Given the description of an element on the screen output the (x, y) to click on. 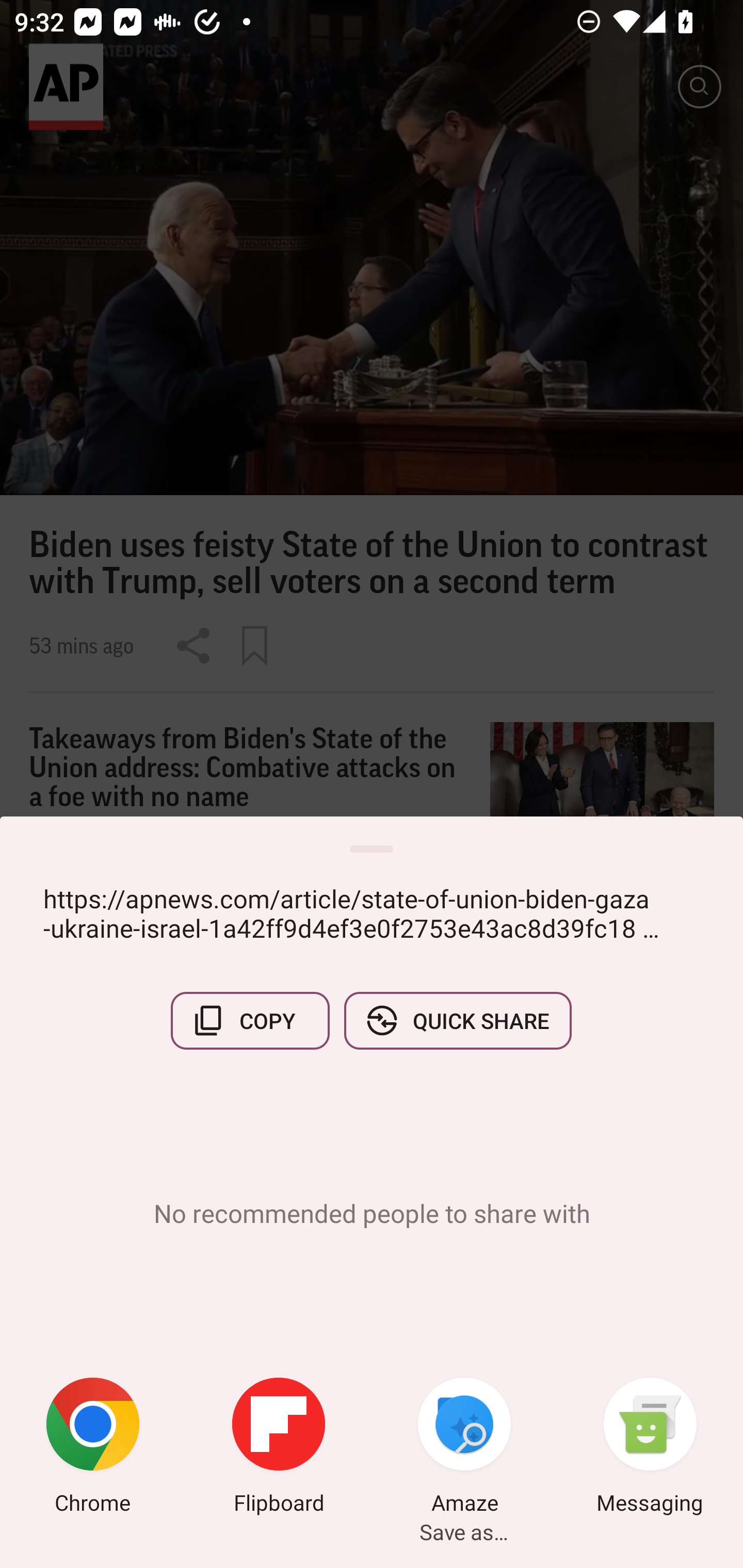
COPY (249, 1020)
QUICK SHARE (457, 1020)
Chrome (92, 1448)
Flipboard (278, 1448)
Amaze Save as… (464, 1448)
Messaging (650, 1448)
